Given the description of an element on the screen output the (x, y) to click on. 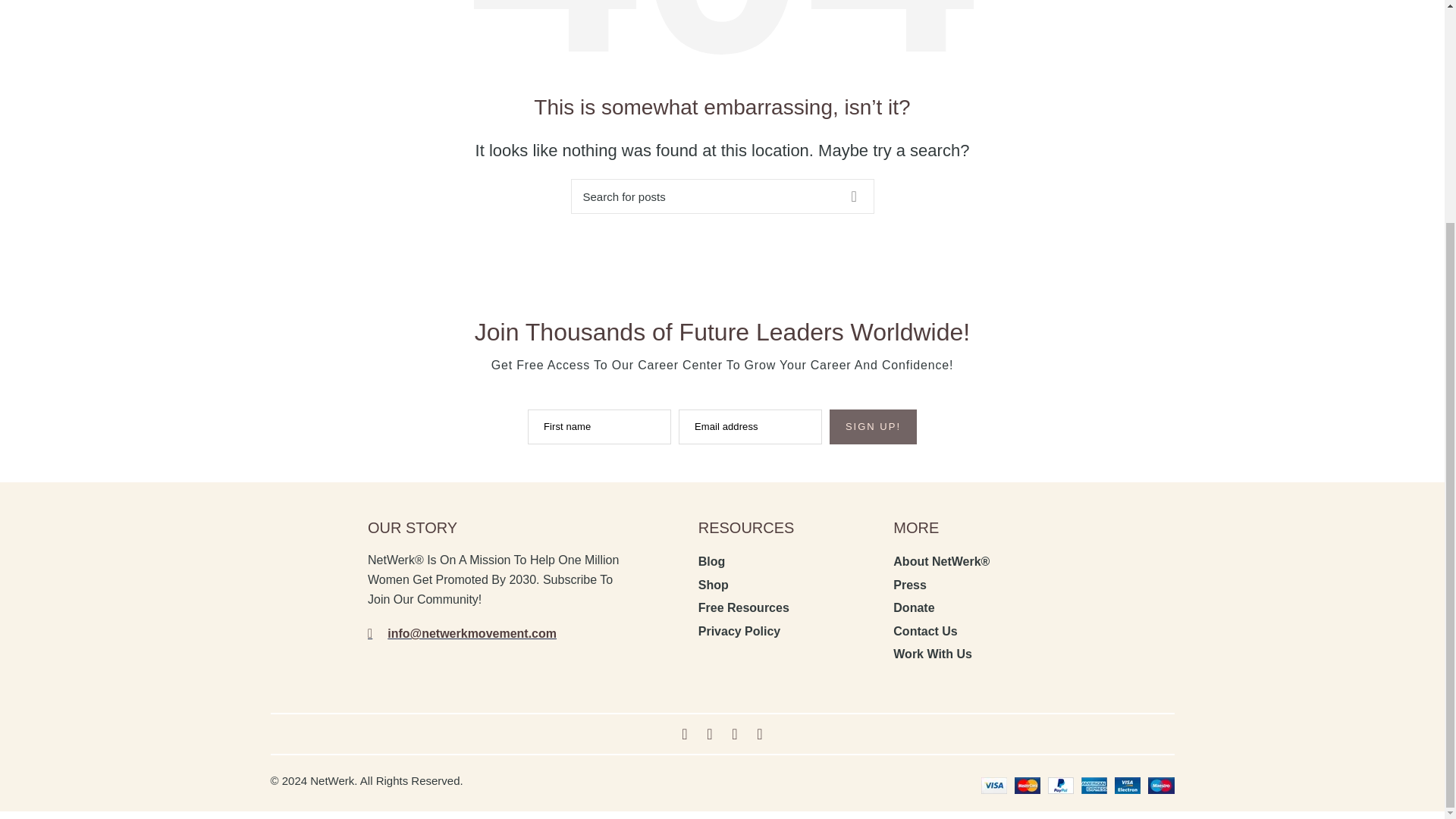
Free Resources (788, 608)
Contact Us (983, 630)
Blog (788, 561)
Donate (983, 608)
Search for posts (721, 196)
SEARCH (853, 196)
Press (983, 585)
Shop (788, 585)
Privacy Policy (788, 630)
SIGN UP! (873, 426)
